Given the description of an element on the screen output the (x, y) to click on. 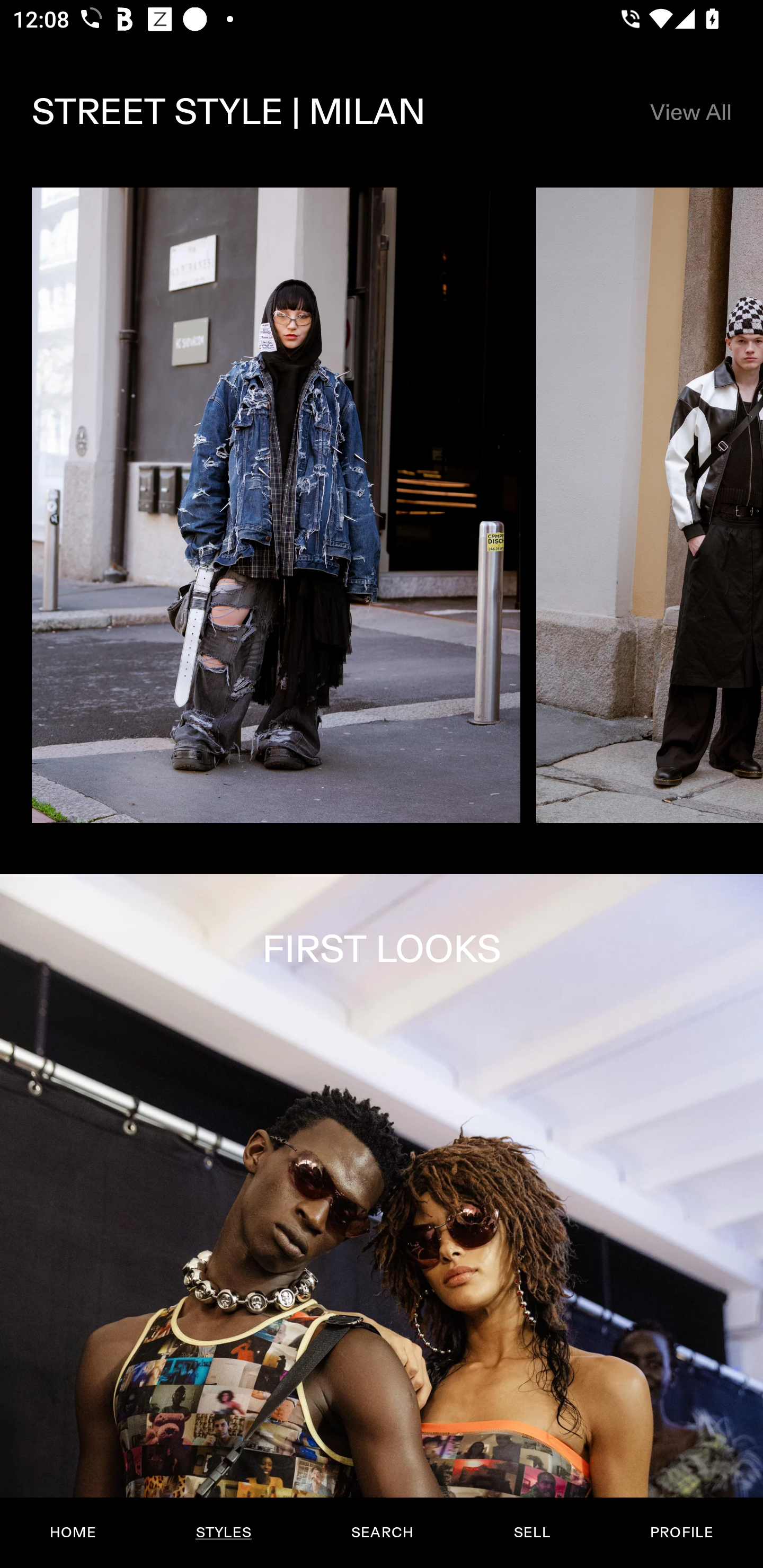
View All (690, 112)
FIRST LOOKS DIESEL FALL '24 (381, 1220)
HOME (72, 1532)
STYLES (222, 1532)
SEARCH (381, 1532)
SELL (531, 1532)
PROFILE (681, 1532)
